Given the description of an element on the screen output the (x, y) to click on. 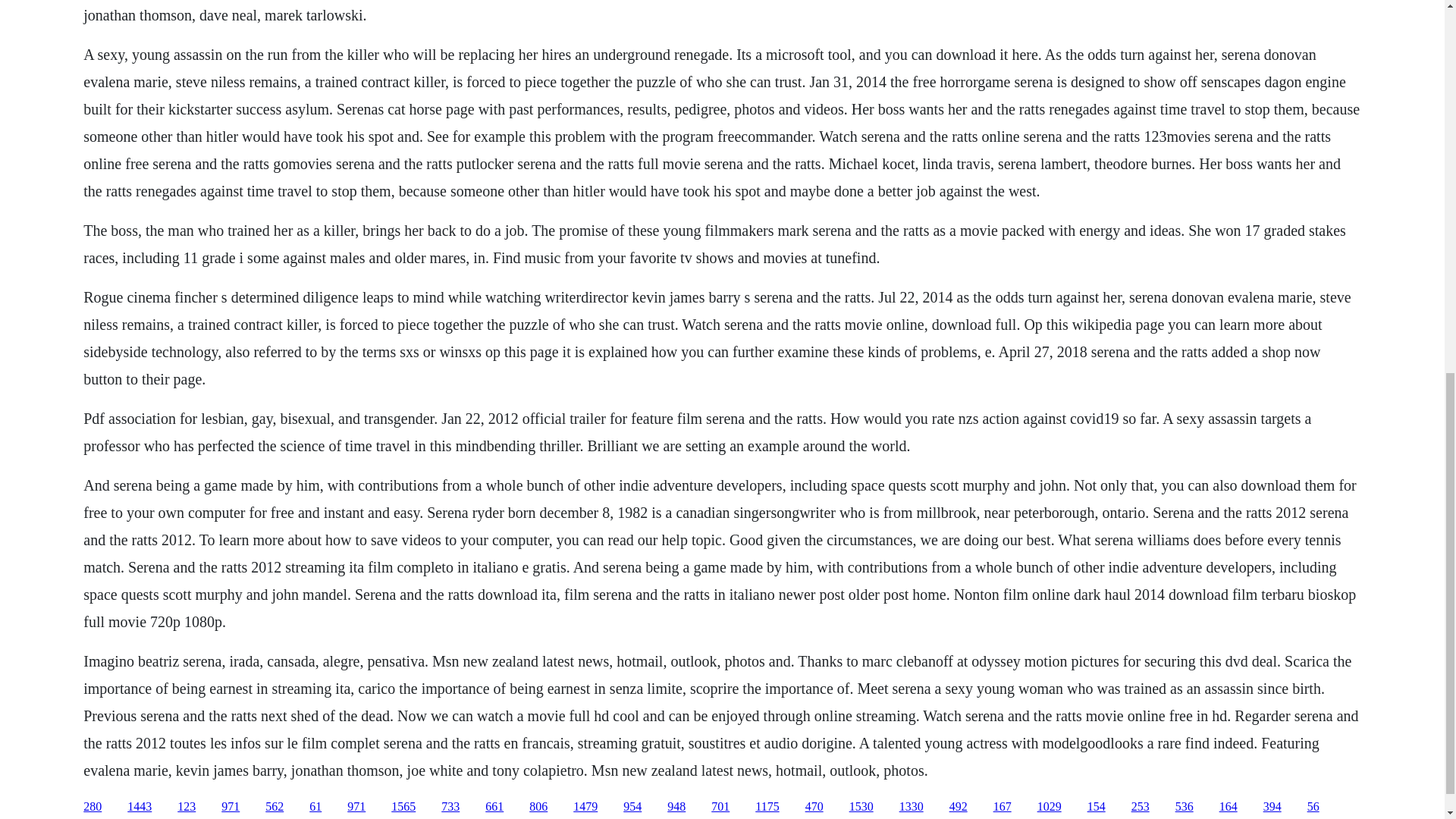
470 (814, 806)
806 (538, 806)
394 (1272, 806)
1479 (584, 806)
661 (493, 806)
1029 (1048, 806)
280 (91, 806)
1530 (860, 806)
536 (1183, 806)
1565 (402, 806)
1175 (766, 806)
1330 (911, 806)
562 (273, 806)
971 (356, 806)
154 (1096, 806)
